Given the description of an element on the screen output the (x, y) to click on. 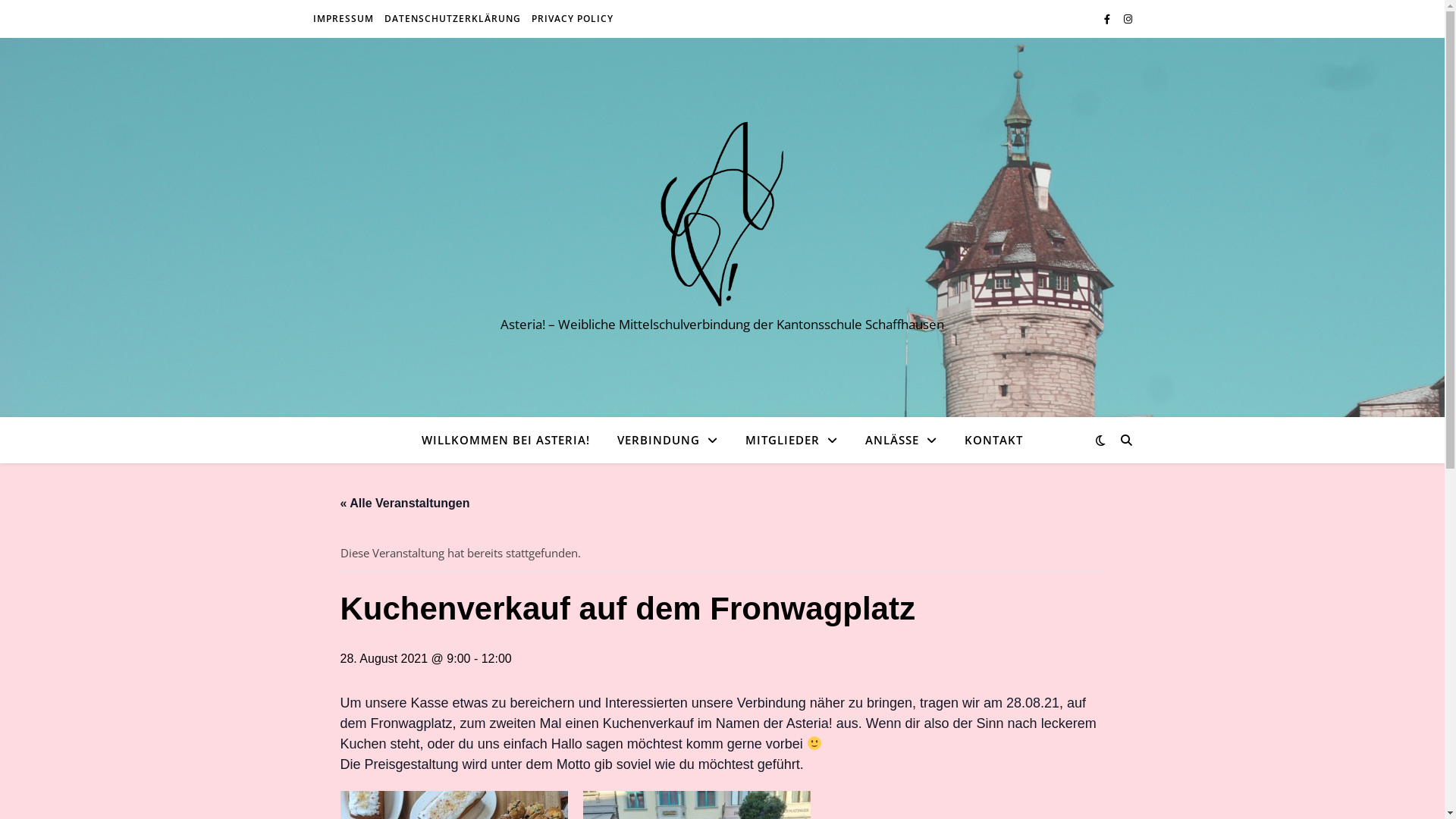
IMPRESSUM Element type: text (344, 18)
MITGLIEDER Element type: text (791, 440)
PRIVACY POLICY Element type: text (570, 18)
KONTAKT Element type: text (987, 439)
VERBINDUNG Element type: text (667, 440)
WILLKOMMEN BEI ASTERIA! Element type: text (511, 439)
